Given the description of an element on the screen output the (x, y) to click on. 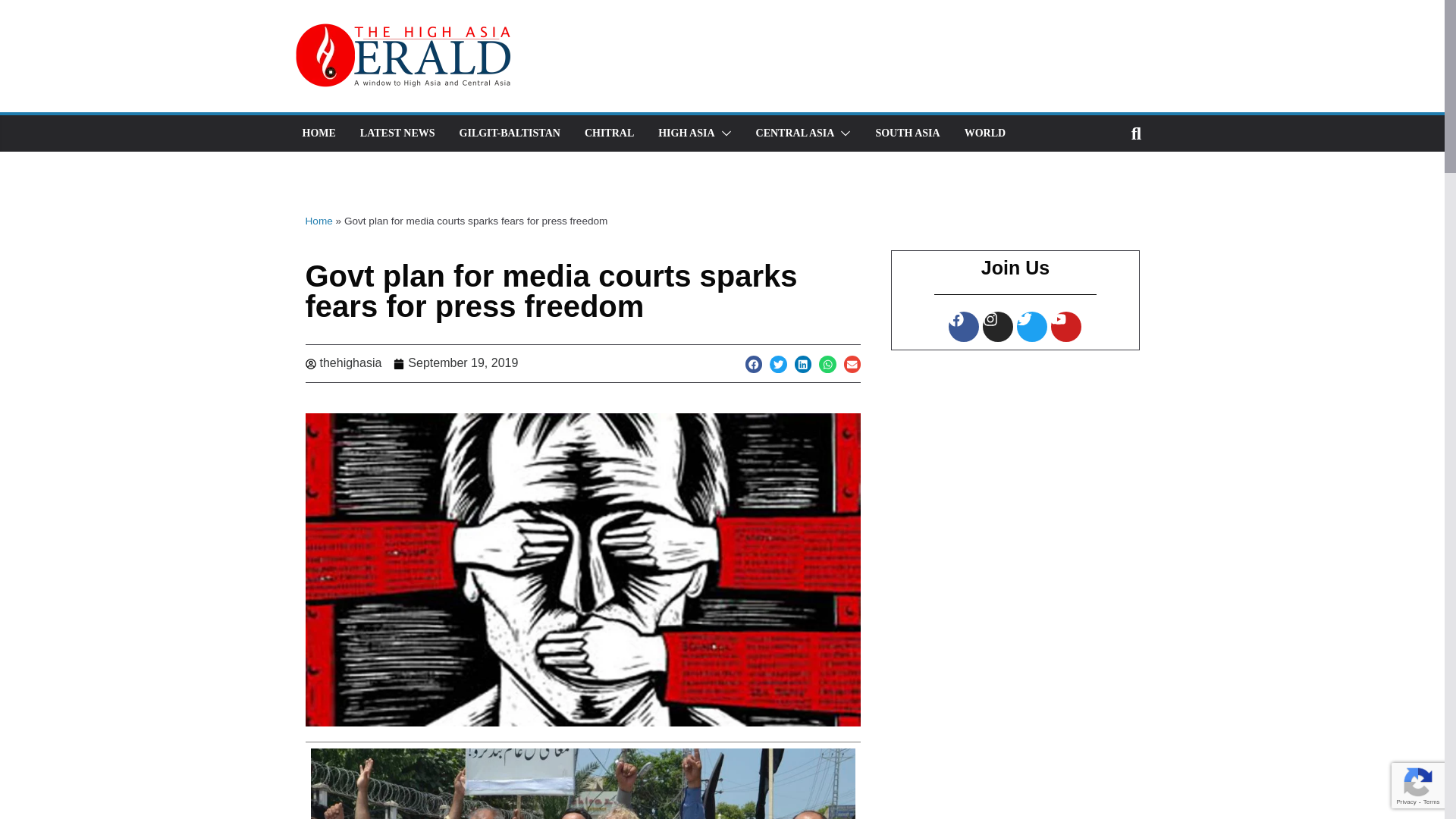
SOUTH ASIA (907, 133)
thehighasia (342, 363)
CENTRAL ASIA (794, 133)
CHITRAL (609, 133)
September 19, 2019 (455, 363)
LATEST NEWS (397, 133)
WORLD (984, 133)
GILGIT-BALTISTAN (510, 133)
HOME (317, 133)
Home (317, 220)
HIGH ASIA (686, 133)
